Given the description of an element on the screen output the (x, y) to click on. 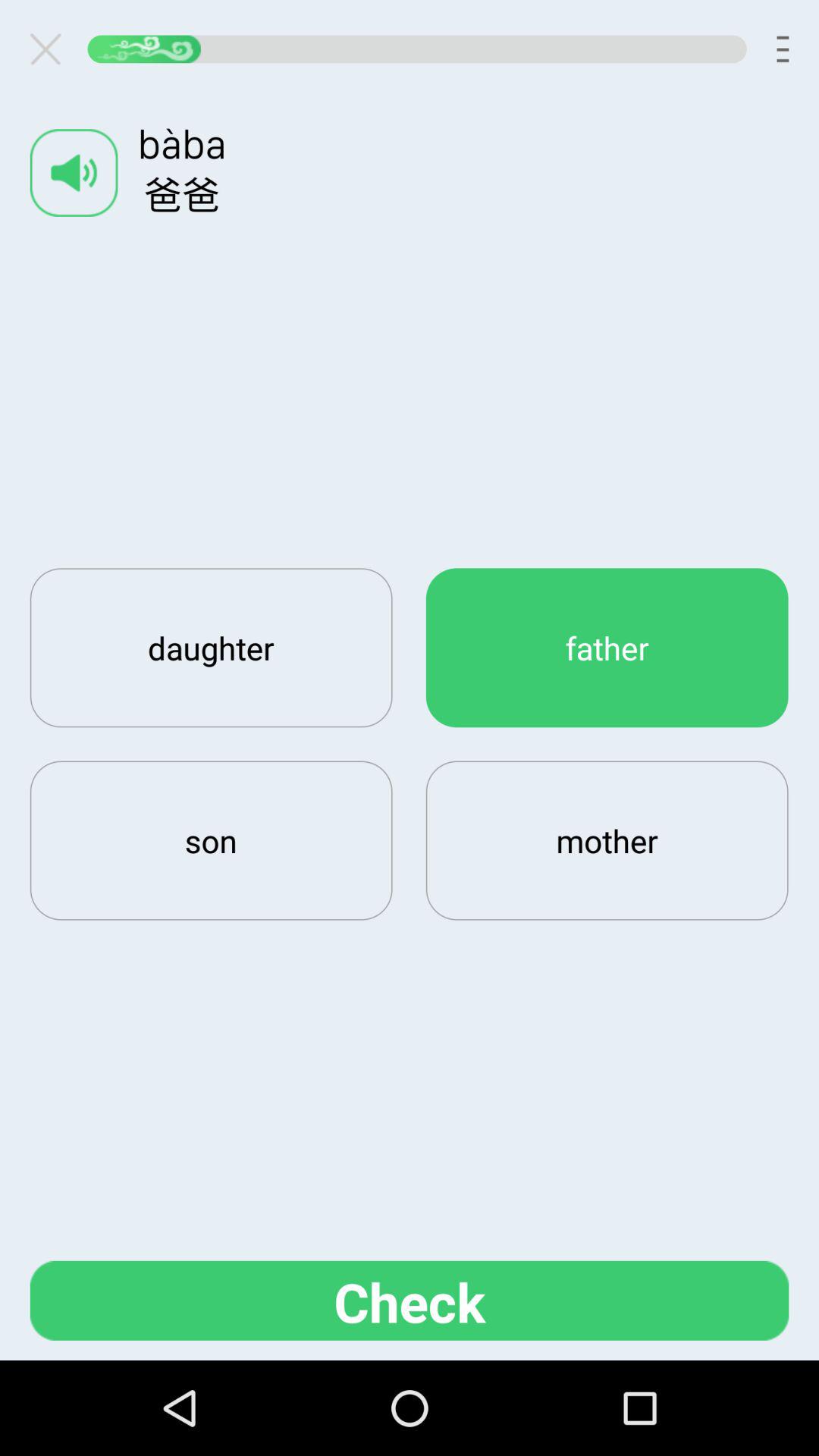
close page (51, 49)
